Given the description of an element on the screen output the (x, y) to click on. 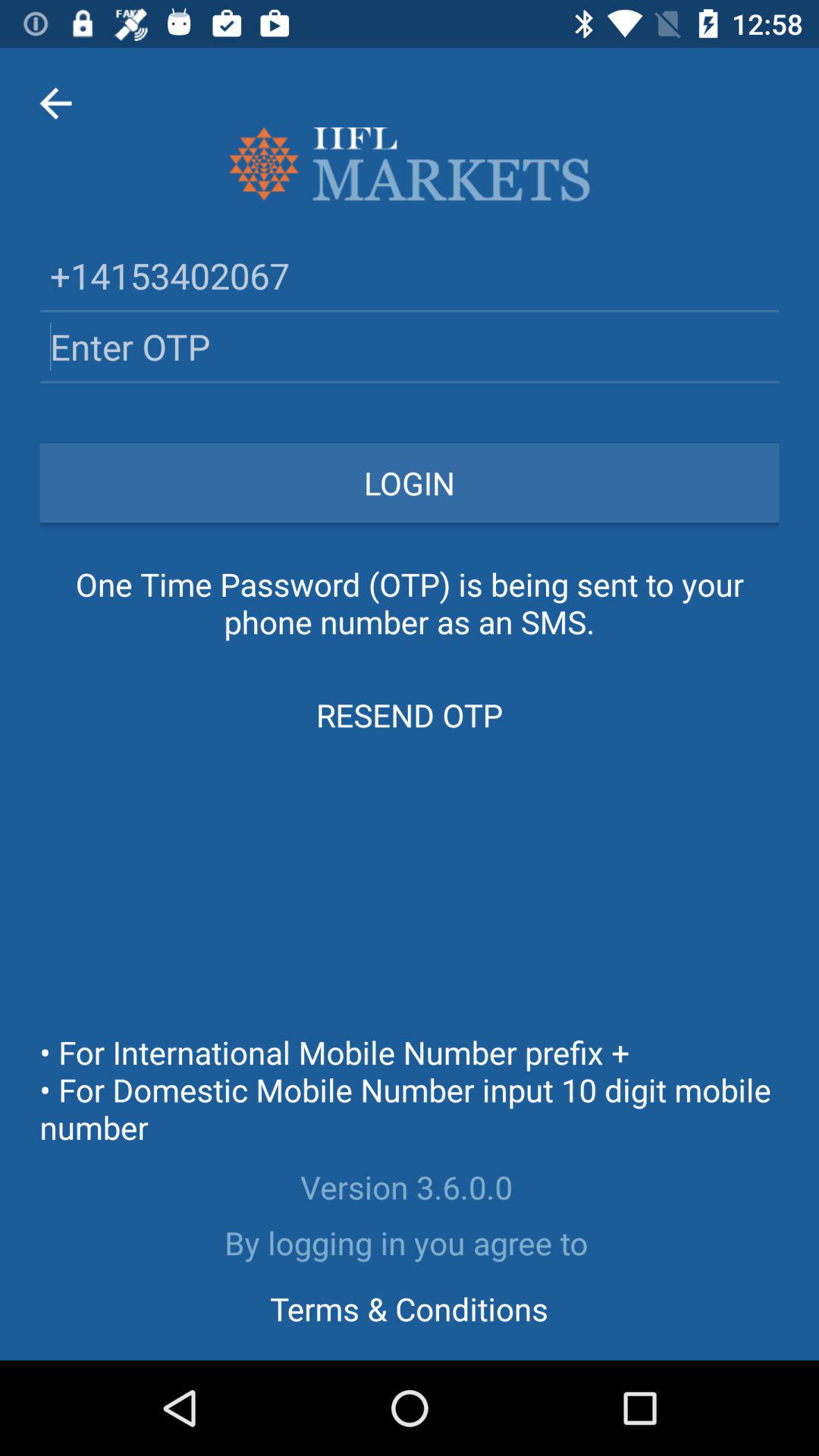
otp field (409, 346)
